Given the description of an element on the screen output the (x, y) to click on. 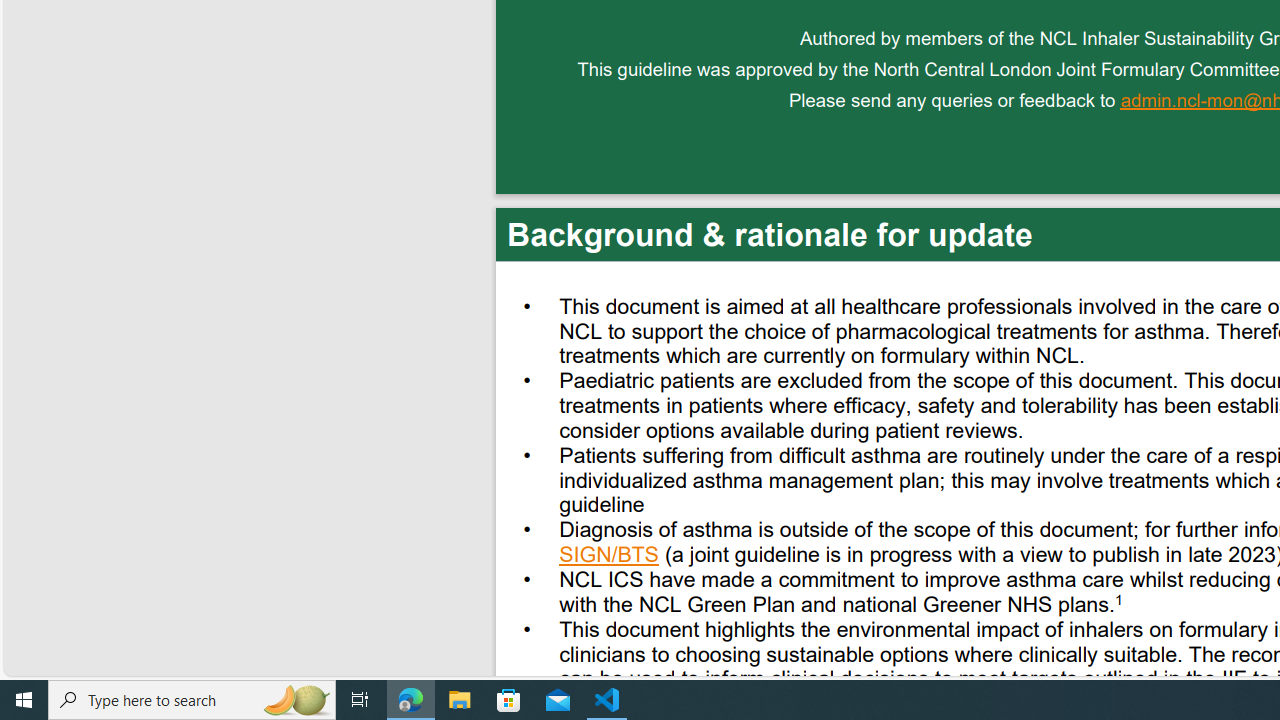
SIGN/BTS (609, 557)
